Given the description of an element on the screen output the (x, y) to click on. 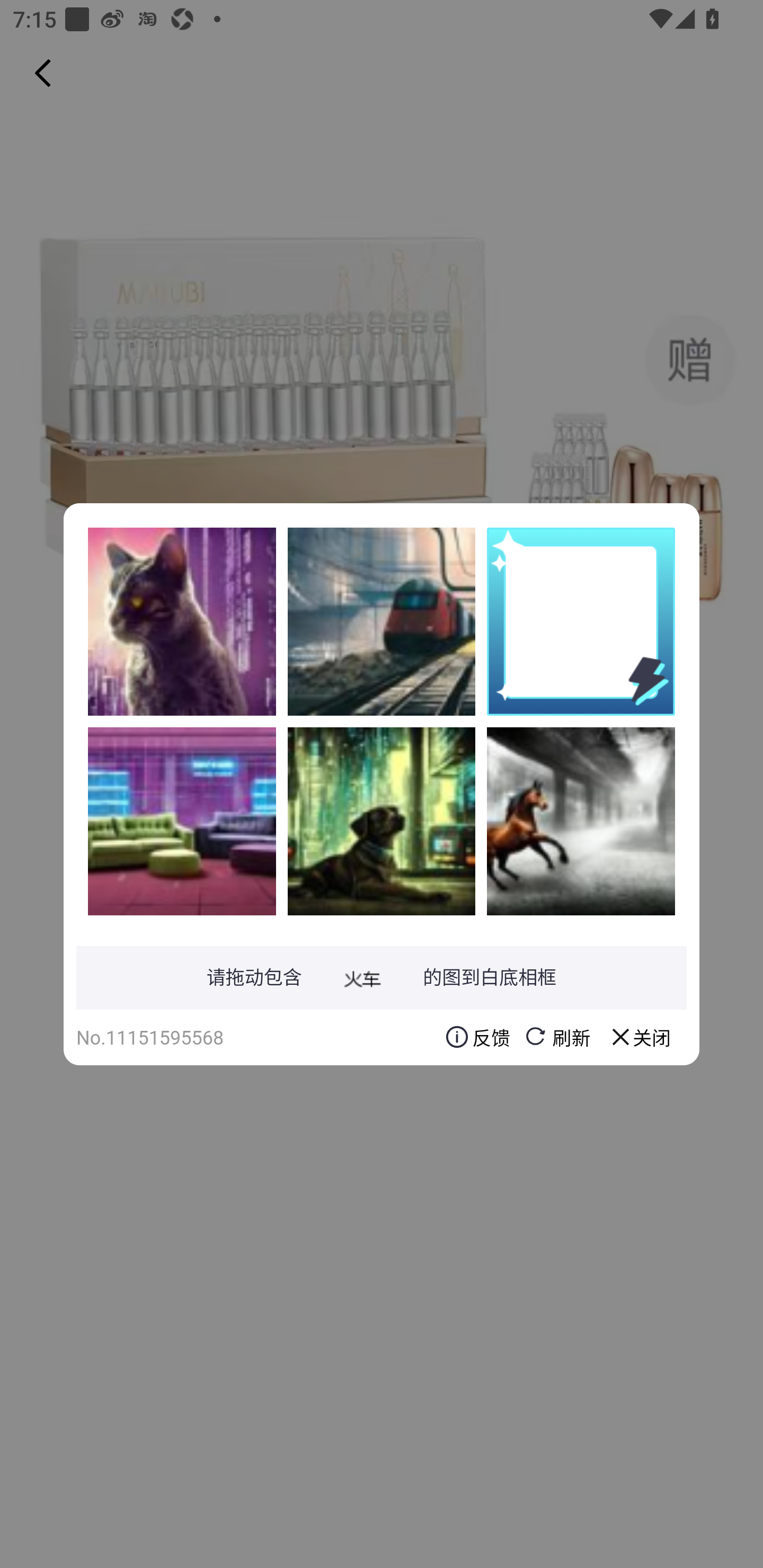
L9cMf+3n9o12cvVvHwNnN5DUtIU26en (381, 820)
